Given the description of an element on the screen output the (x, y) to click on. 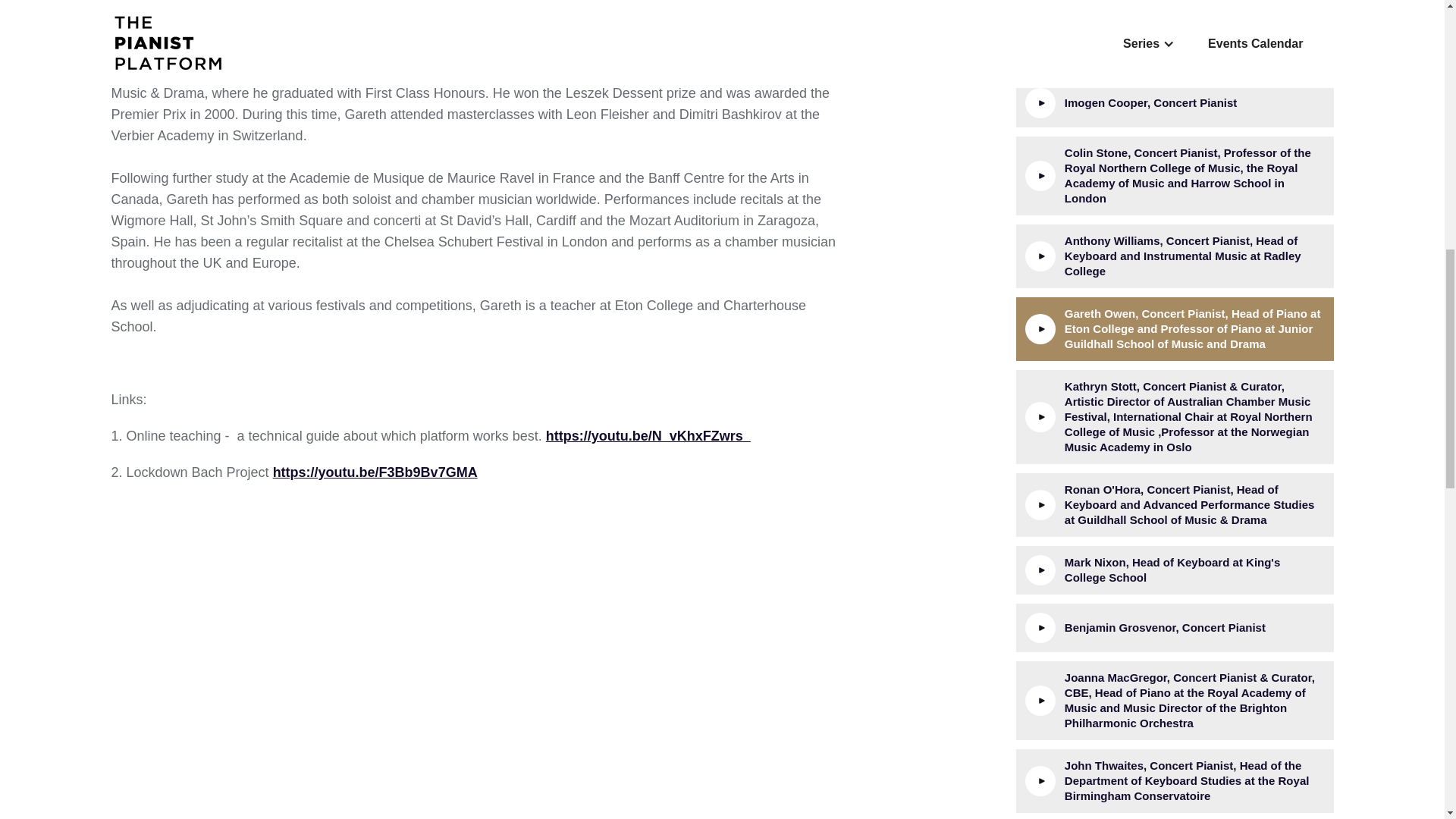
Imogen Cooper, Concert Pianist (1174, 102)
Mark Nixon, Head of Keyboard at King's College School (1174, 570)
Marc - Andre Hamelin, Concert Pianist (1174, 6)
Episode notes (156, 18)
Benjamin Grosvenor, Concert Pianist (1174, 627)
